Given the description of an element on the screen output the (x, y) to click on. 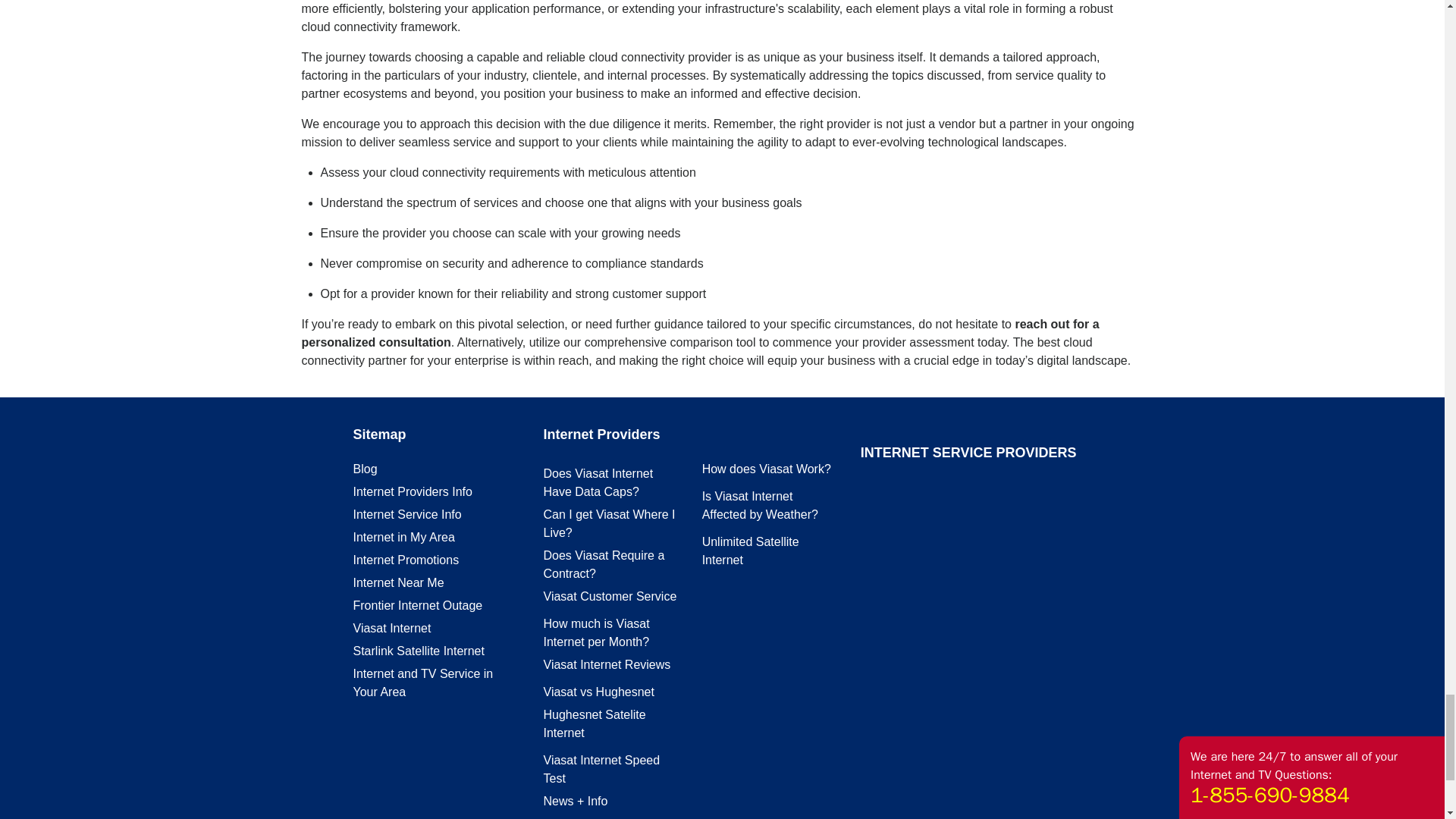
Frontier Internet Outage (418, 604)
Blog (365, 468)
Internet Near Me (398, 582)
How does Viasat Work? (766, 468)
Viasat Internet Speed Test (601, 768)
Does Viasat Internet Have Data Caps? (597, 481)
Viasat vs Hughesnet (598, 691)
How much is Viasat Internet per Month? (596, 632)
